Given the description of an element on the screen output the (x, y) to click on. 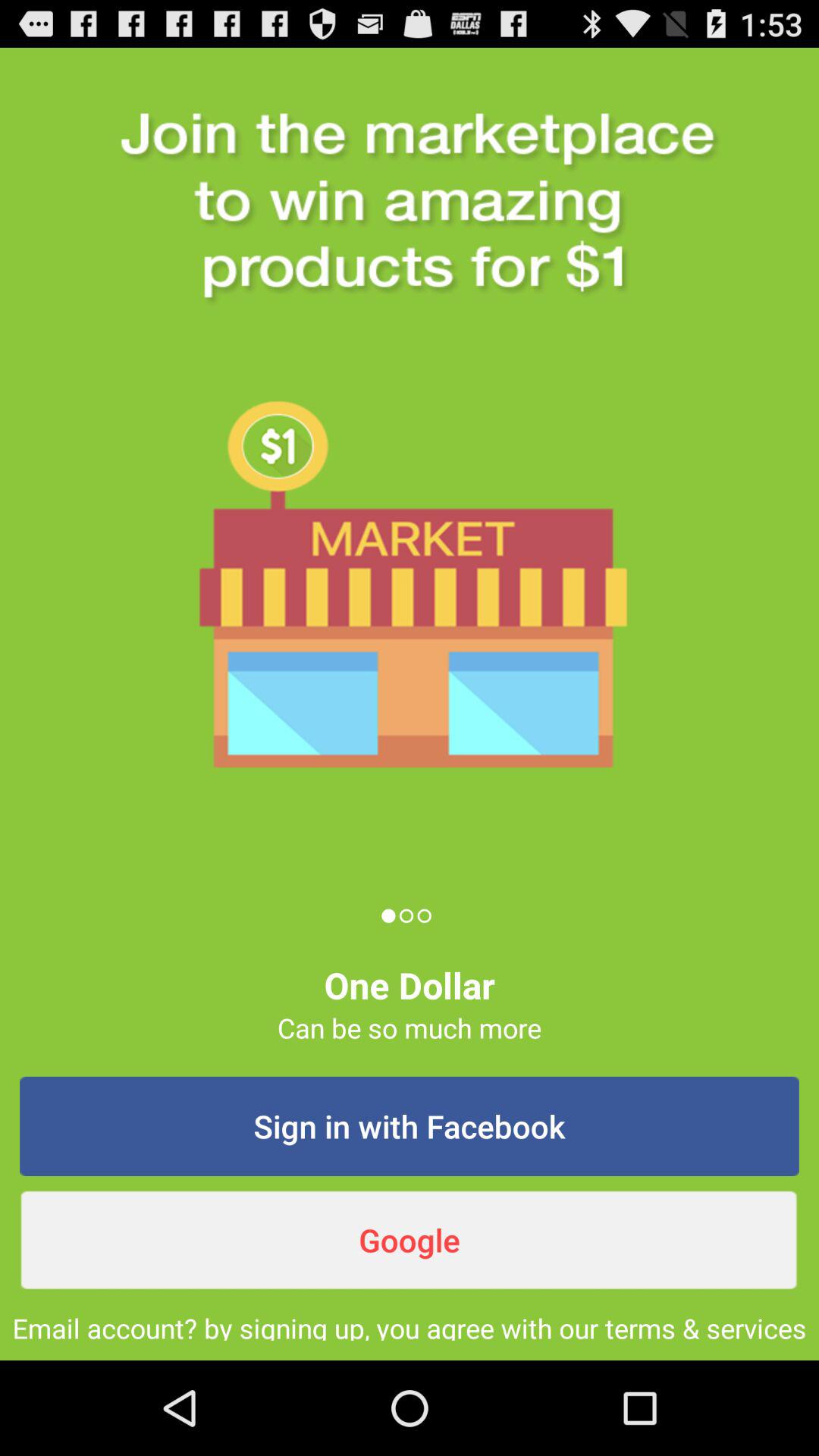
click the item below the sign in with icon (409, 1239)
